Given the description of an element on the screen output the (x, y) to click on. 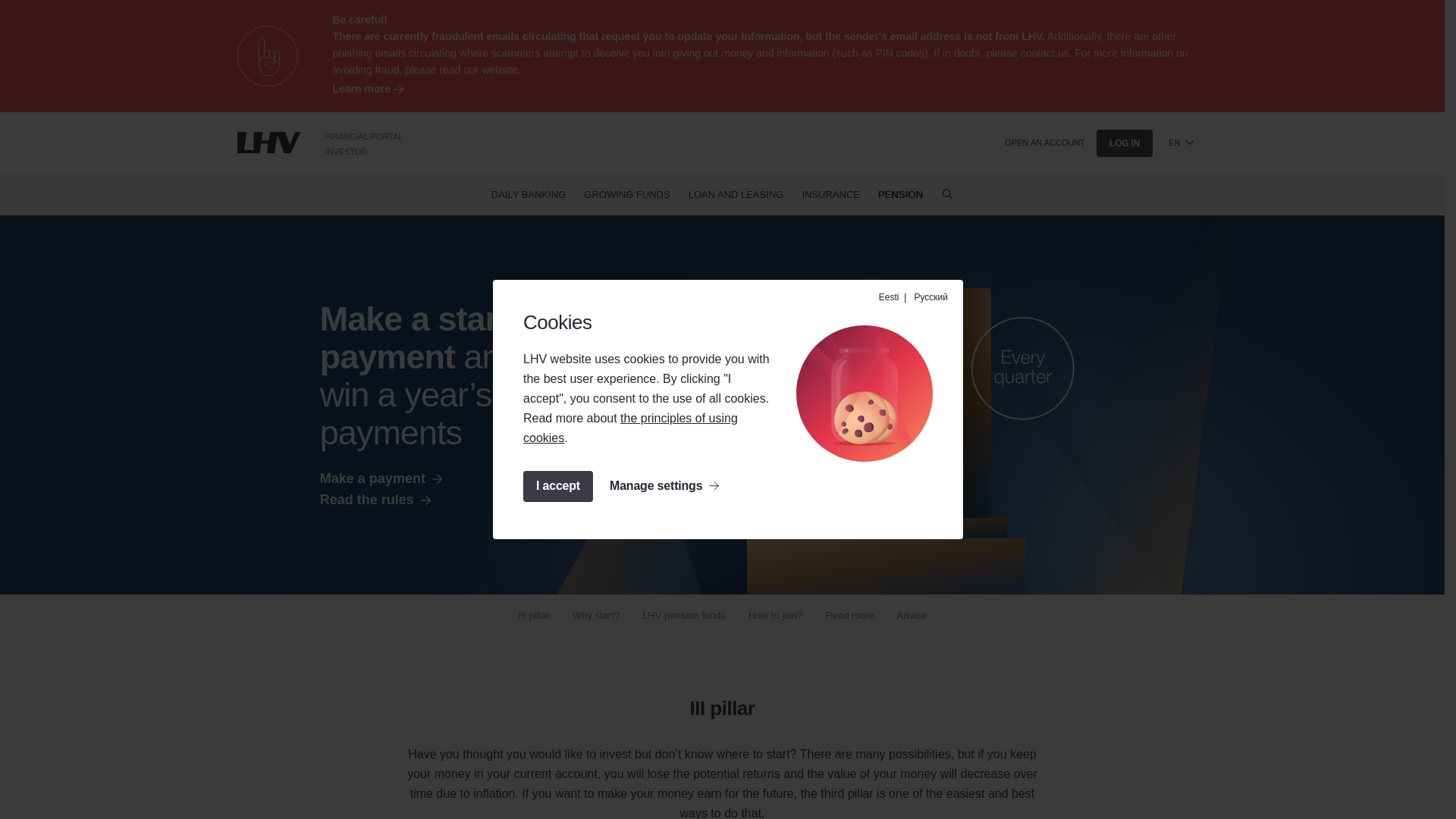
I accept (557, 486)
Eesti (889, 296)
Learn more (768, 88)
EN (1185, 142)
OPEN AN ACCOUNT (1045, 142)
DAILY BANKING (528, 193)
Manage settings (664, 486)
LOG IN (1124, 143)
INVESTOR (346, 151)
FINANCIAL PORTAL (364, 135)
the principles of using cookies (630, 427)
